Given the description of an element on the screen output the (x, y) to click on. 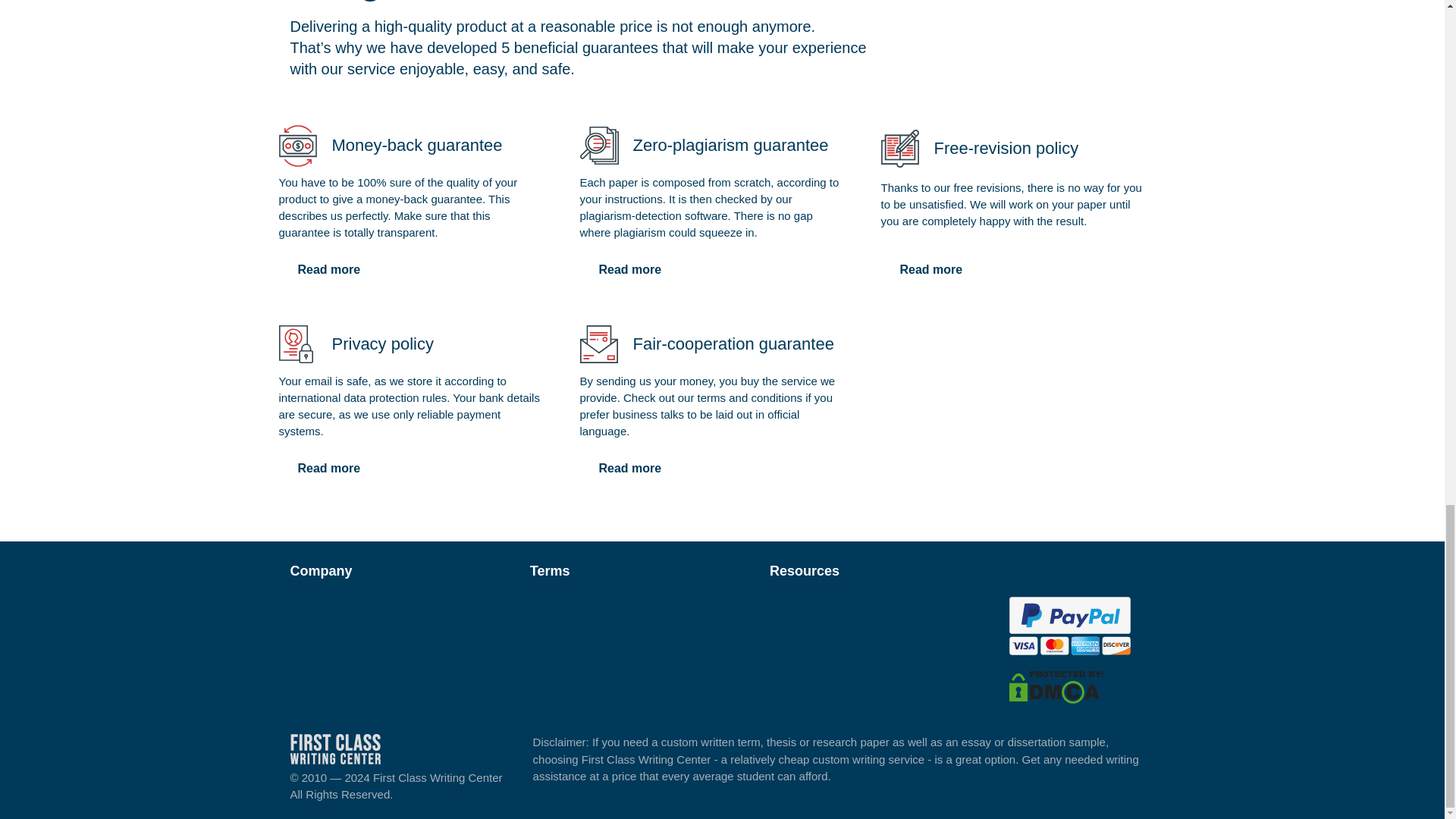
Read more (930, 269)
Read more (629, 269)
DMCA (1056, 686)
Read more (629, 468)
Read more (329, 269)
Read more (329, 468)
